Given the description of an element on the screen output the (x, y) to click on. 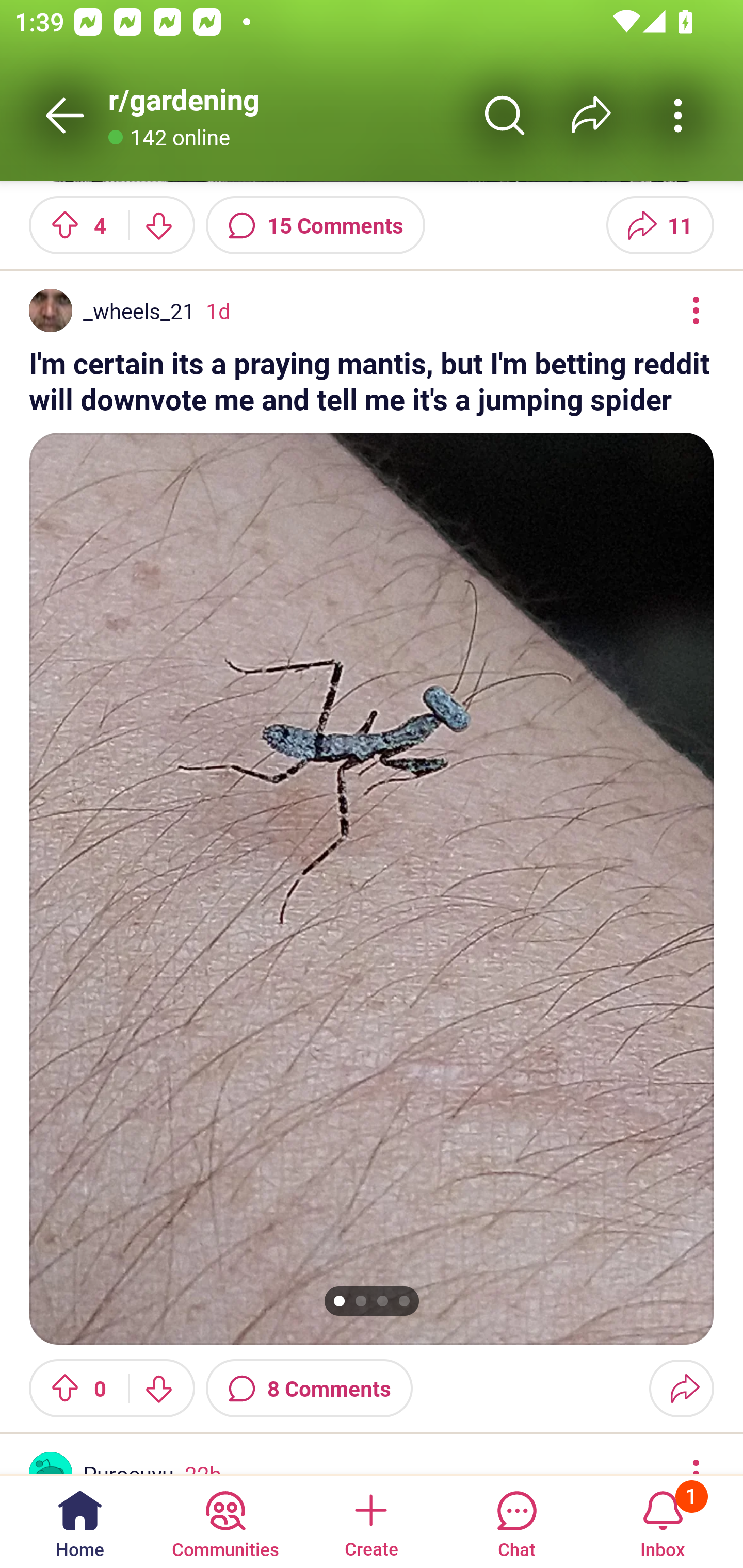
Back (64, 115)
Search r/﻿gardening (504, 115)
Share r/﻿gardening (591, 115)
More community actions (677, 115)
Home (80, 1520)
Communities (225, 1520)
Create a post Create (370, 1520)
Chat (516, 1520)
Inbox, has 1 notification 1 Inbox (662, 1520)
